Given the description of an element on the screen output the (x, y) to click on. 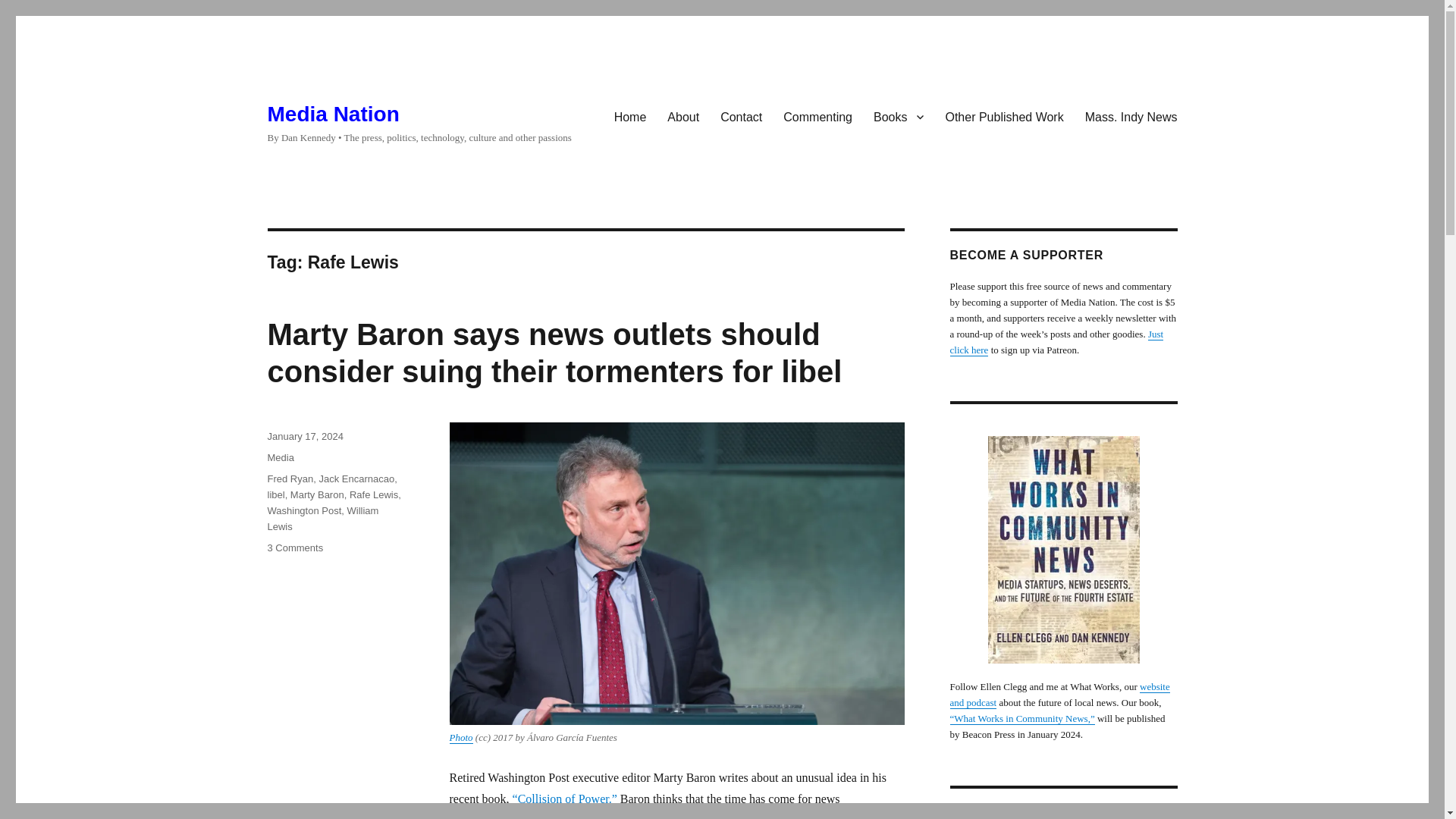
Washington Post (303, 510)
Mass. Indy News (1131, 116)
January 17, 2024 (304, 436)
Contact (741, 116)
Media (280, 457)
Rafe Lewis (373, 494)
Photo (459, 737)
Commenting (818, 116)
Marty Baron (316, 494)
